Given the description of an element on the screen output the (x, y) to click on. 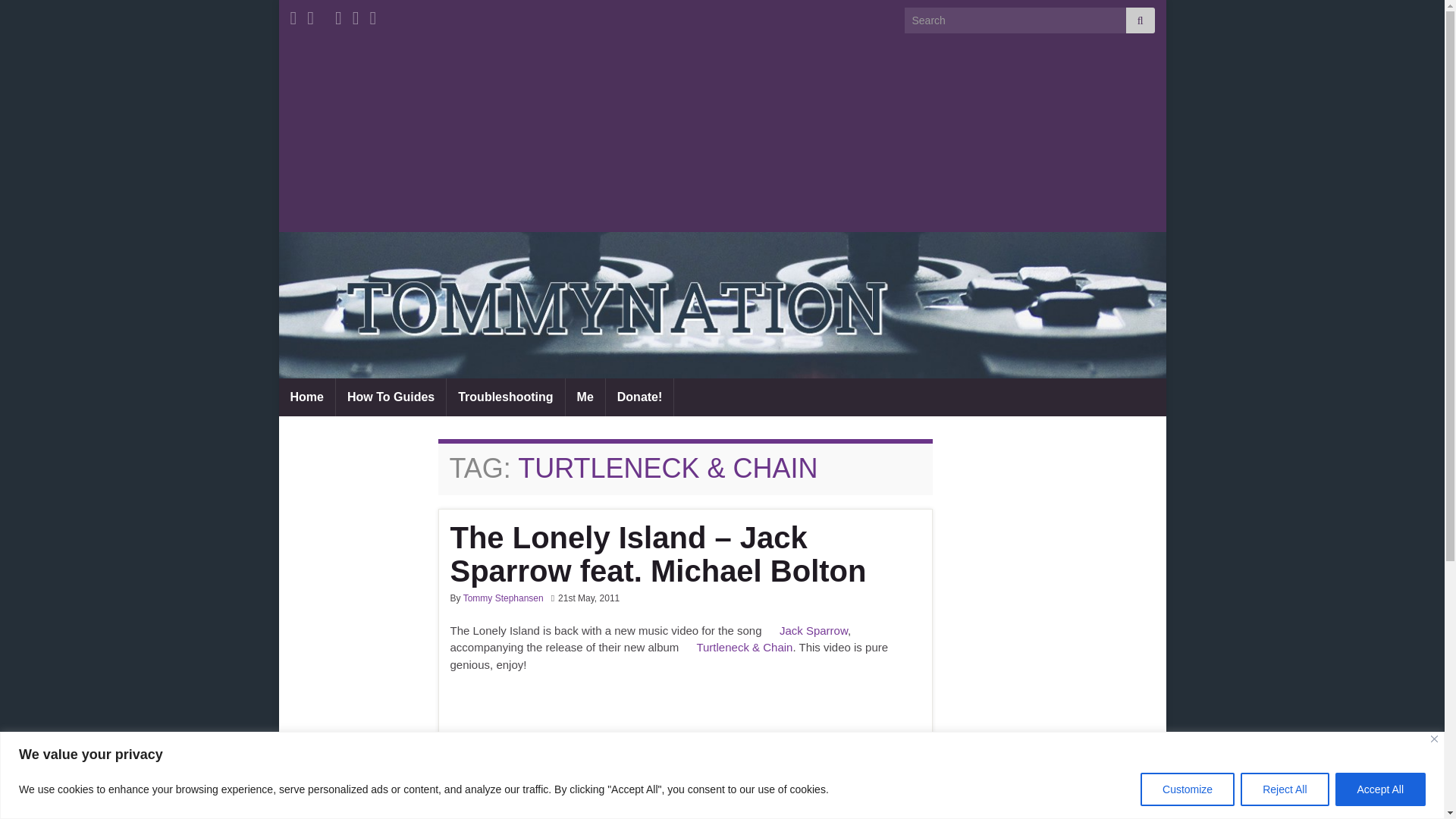
Me (585, 397)
Jack Sparrow (812, 630)
Accept All (1380, 788)
Home (306, 397)
Home (306, 397)
Troubleshooting (505, 397)
Customize (1187, 788)
Tommy Stephansen (503, 597)
